Given the description of an element on the screen output the (x, y) to click on. 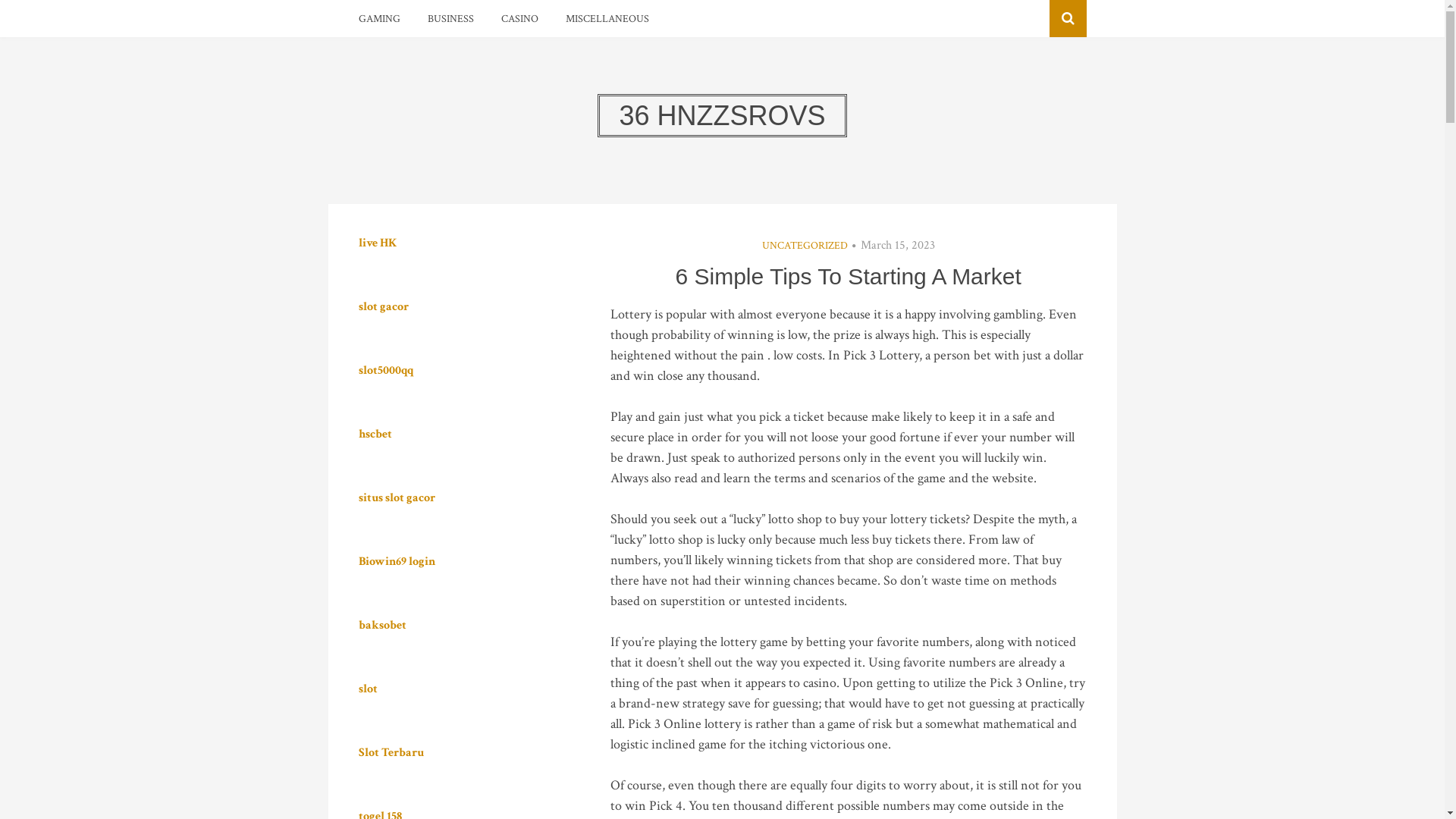
Slot Terbaru Element type: text (390, 752)
slot Element type: text (366, 688)
GAMING Element type: text (378, 19)
UNCATEGORIZED Element type: text (804, 245)
situs slot gacor Element type: text (395, 497)
CASINO Element type: text (518, 19)
baksobet Element type: text (381, 625)
hscbet Element type: text (374, 434)
Biowin69 login Element type: text (395, 561)
BUSINESS Element type: text (450, 19)
live HK Element type: text (376, 243)
MISCELLANEOUS Element type: text (607, 19)
slot5000qq Element type: text (384, 370)
slot gacor Element type: text (382, 306)
36 HNZZSROVS Element type: text (721, 115)
